Given the description of an element on the screen output the (x, y) to click on. 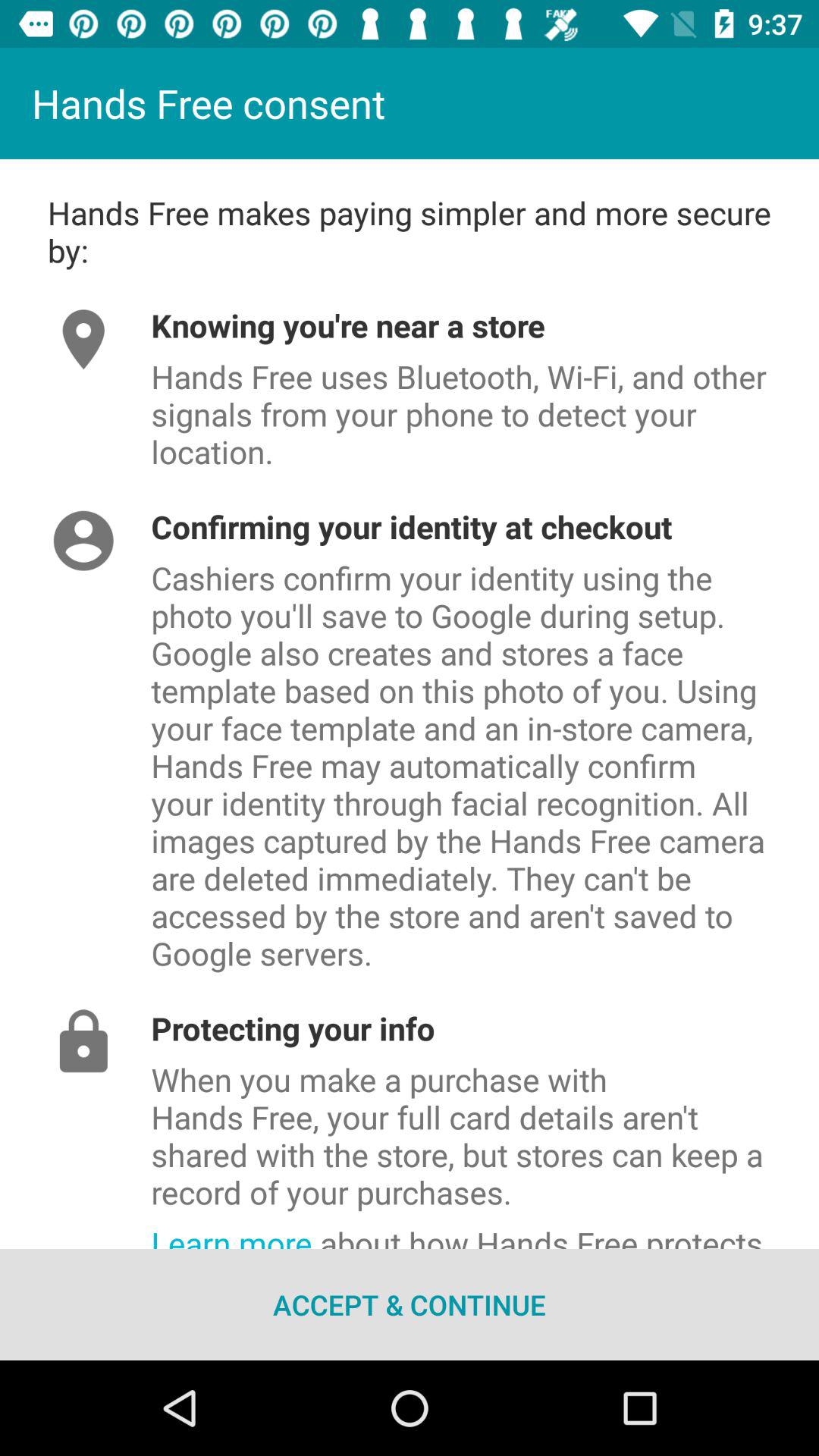
tap the item below when you make item (485, 1230)
